Given the description of an element on the screen output the (x, y) to click on. 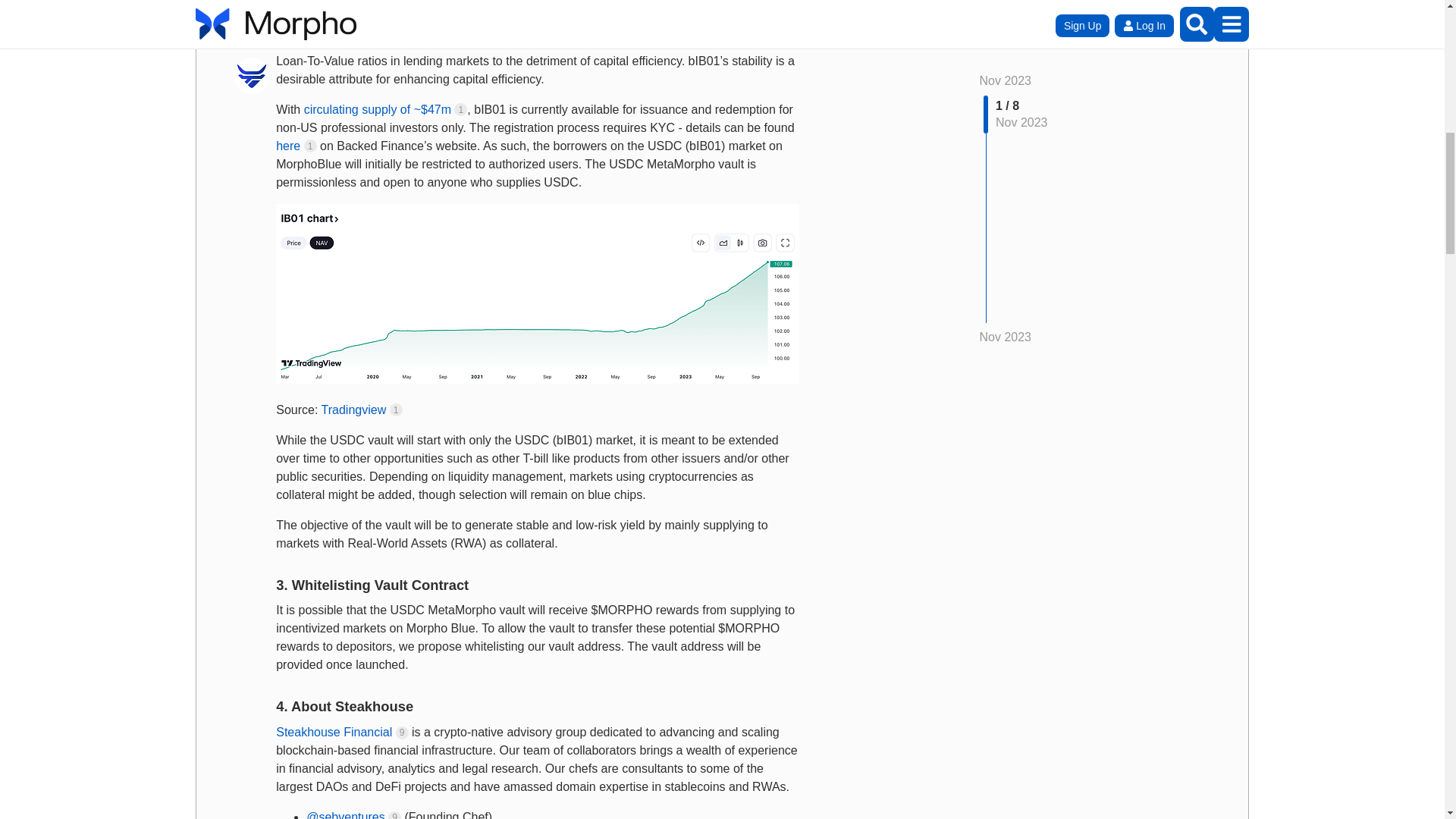
Tradingview 1 (362, 409)
1 click (460, 109)
here 1 (295, 145)
1 click (310, 145)
Source: Tradingview (537, 293)
Steakhouse Financial 9 (341, 731)
